Given the description of an element on the screen output the (x, y) to click on. 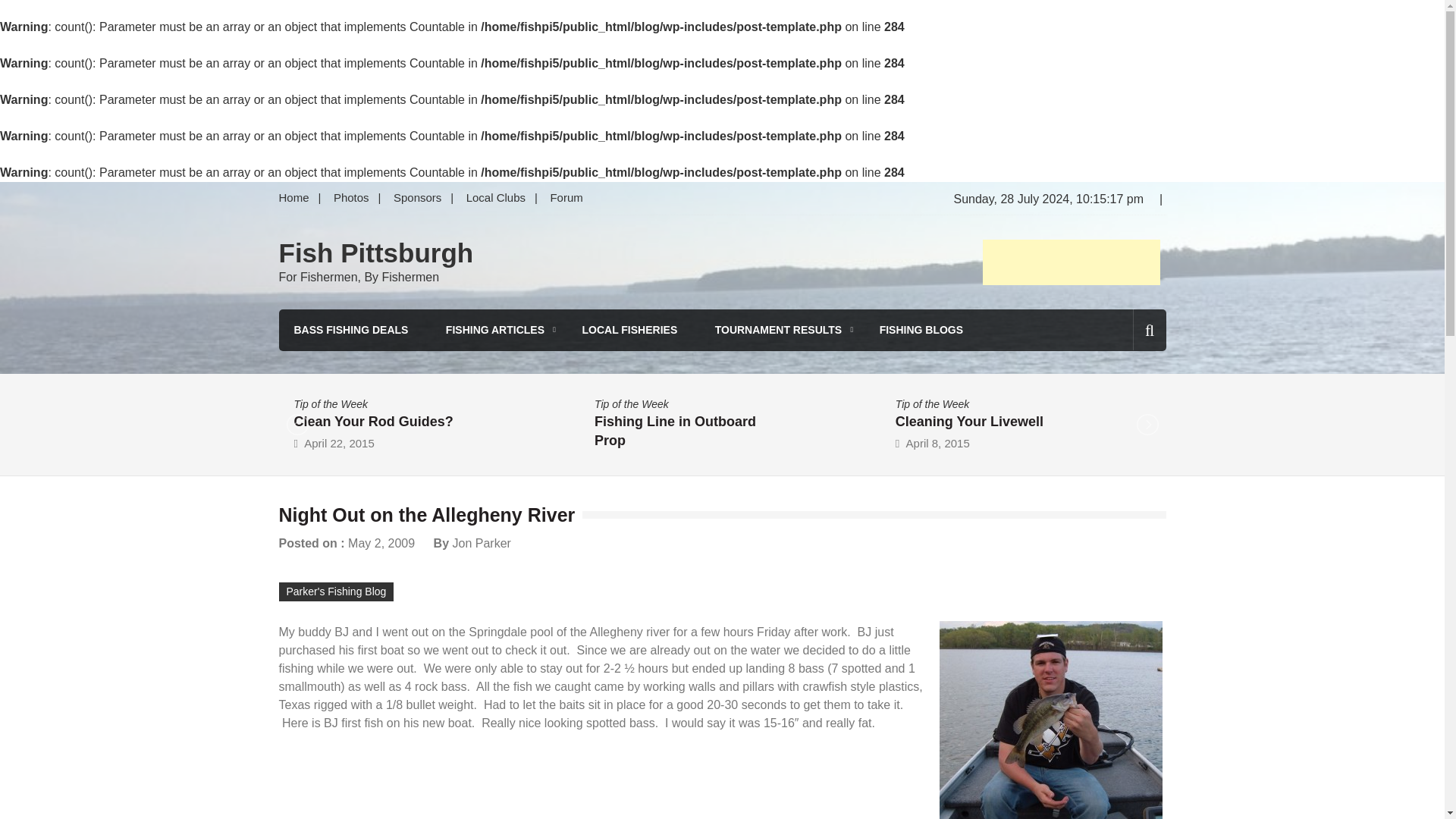
BASS FISHING DEALS (351, 330)
Search (1123, 394)
Sponsors (416, 197)
FISHING BLOGS (920, 330)
Posts by Jon Parker (481, 543)
Photos (351, 197)
Fish Pittsburgh (376, 253)
Forum (565, 197)
Home (298, 197)
Local Clubs (495, 197)
LOCAL FISHERIES (628, 330)
Advertisement (1071, 262)
TOURNAMENT RESULTS (777, 330)
FISHING ARTICLES (494, 330)
